Given the description of an element on the screen output the (x, y) to click on. 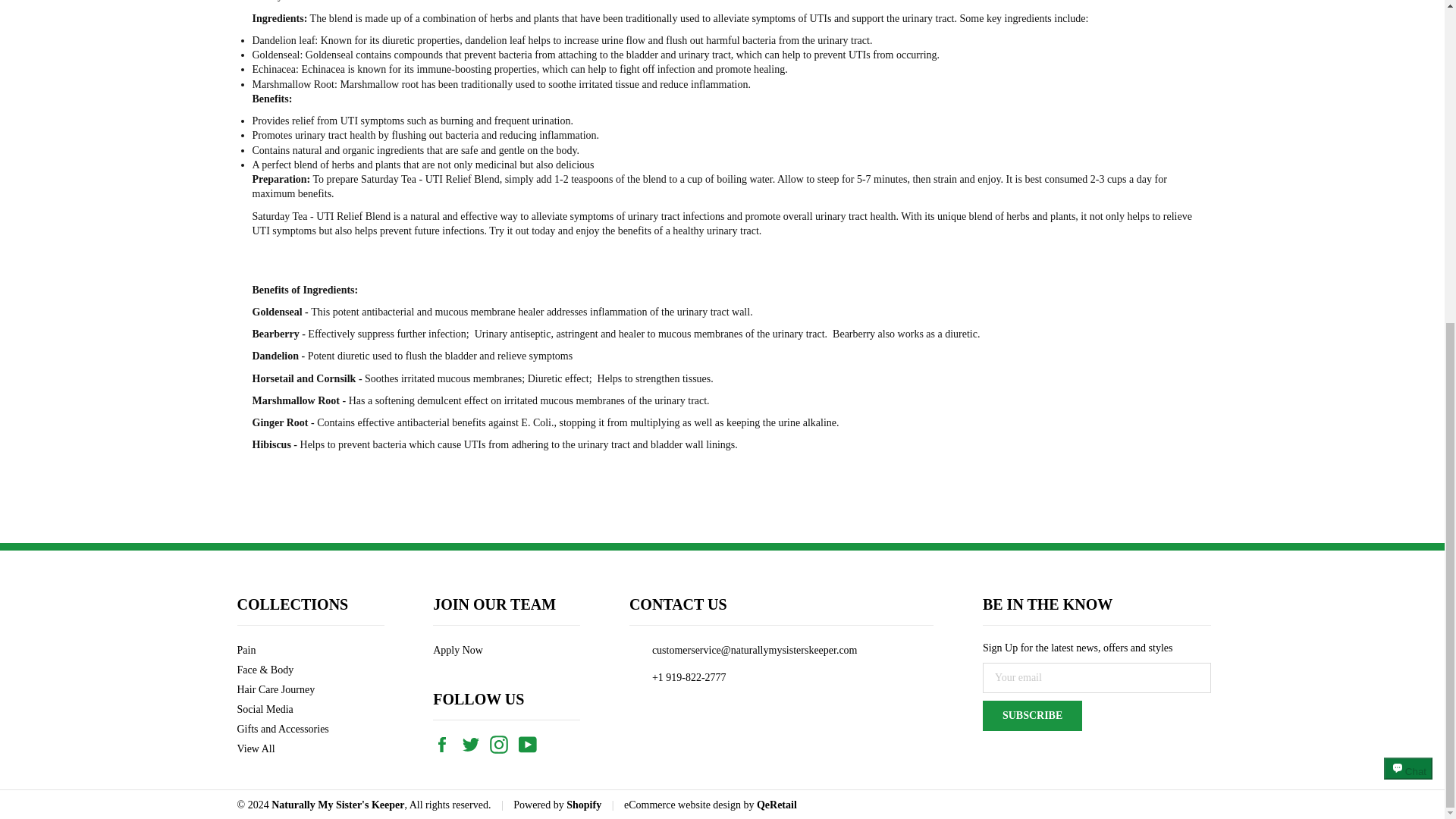
Naturally My Sister's Keeper on YouTube (531, 743)
Naturally My Sister's Keeper on Instagram (502, 743)
Naturally My Sister's Keeper on Twitter (474, 743)
Shopify online store chat (1408, 255)
Naturally My Sister's Keeper on Facebook (445, 743)
